Given the description of an element on the screen output the (x, y) to click on. 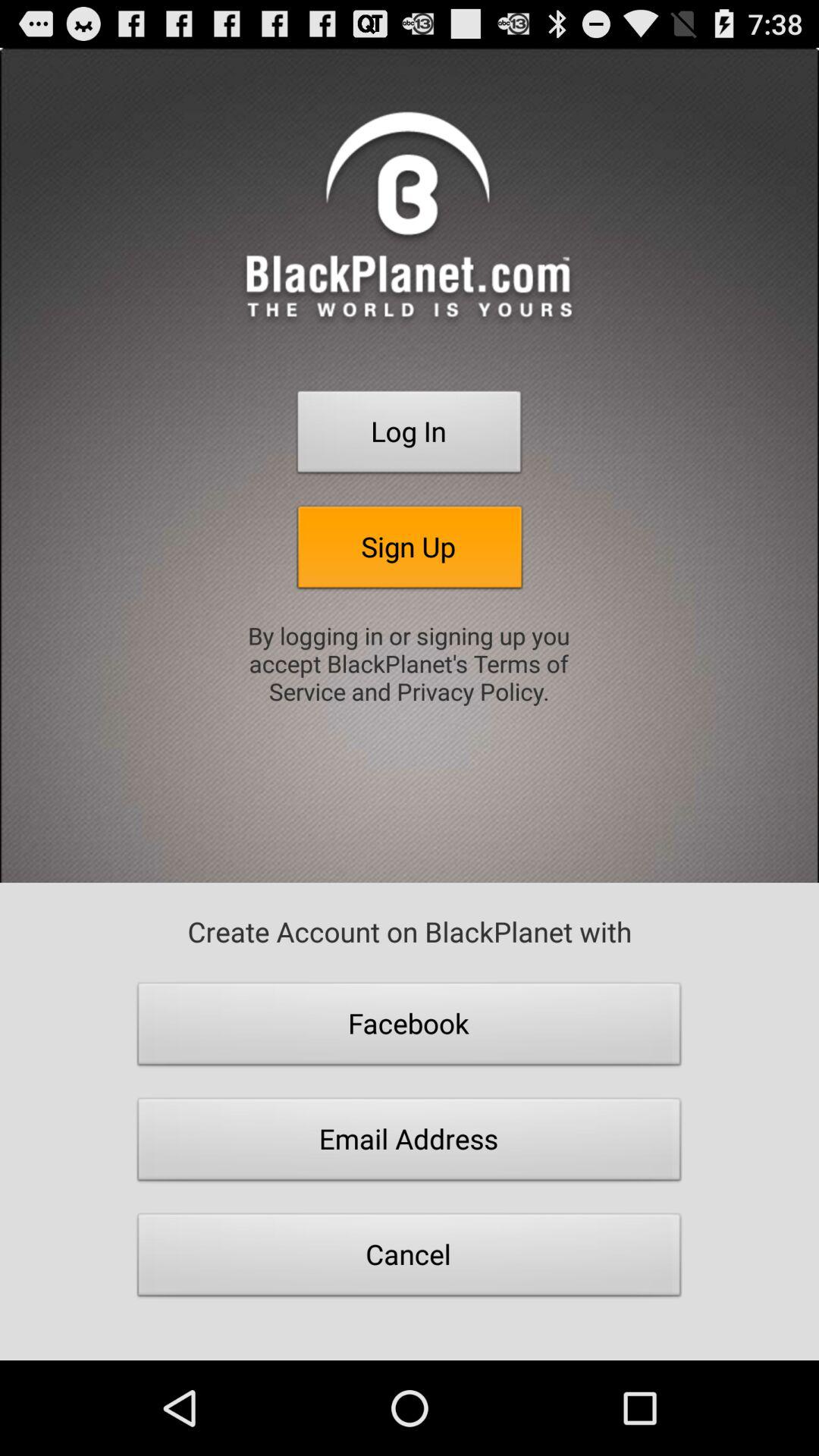
turn on app above the by logging in app (409, 551)
